Given the description of an element on the screen output the (x, y) to click on. 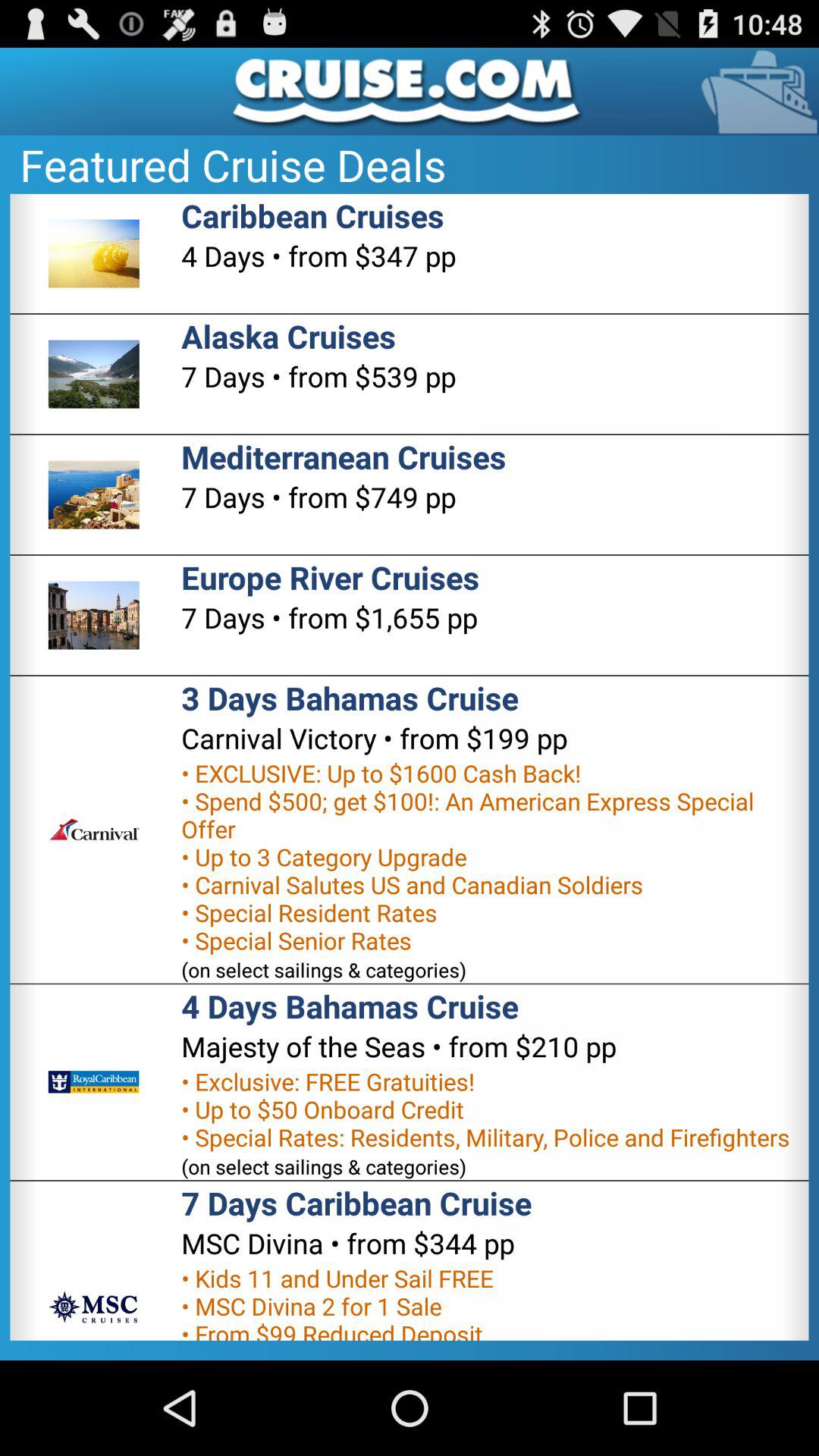
swipe until caribbean cruises icon (312, 215)
